Given the description of an element on the screen output the (x, y) to click on. 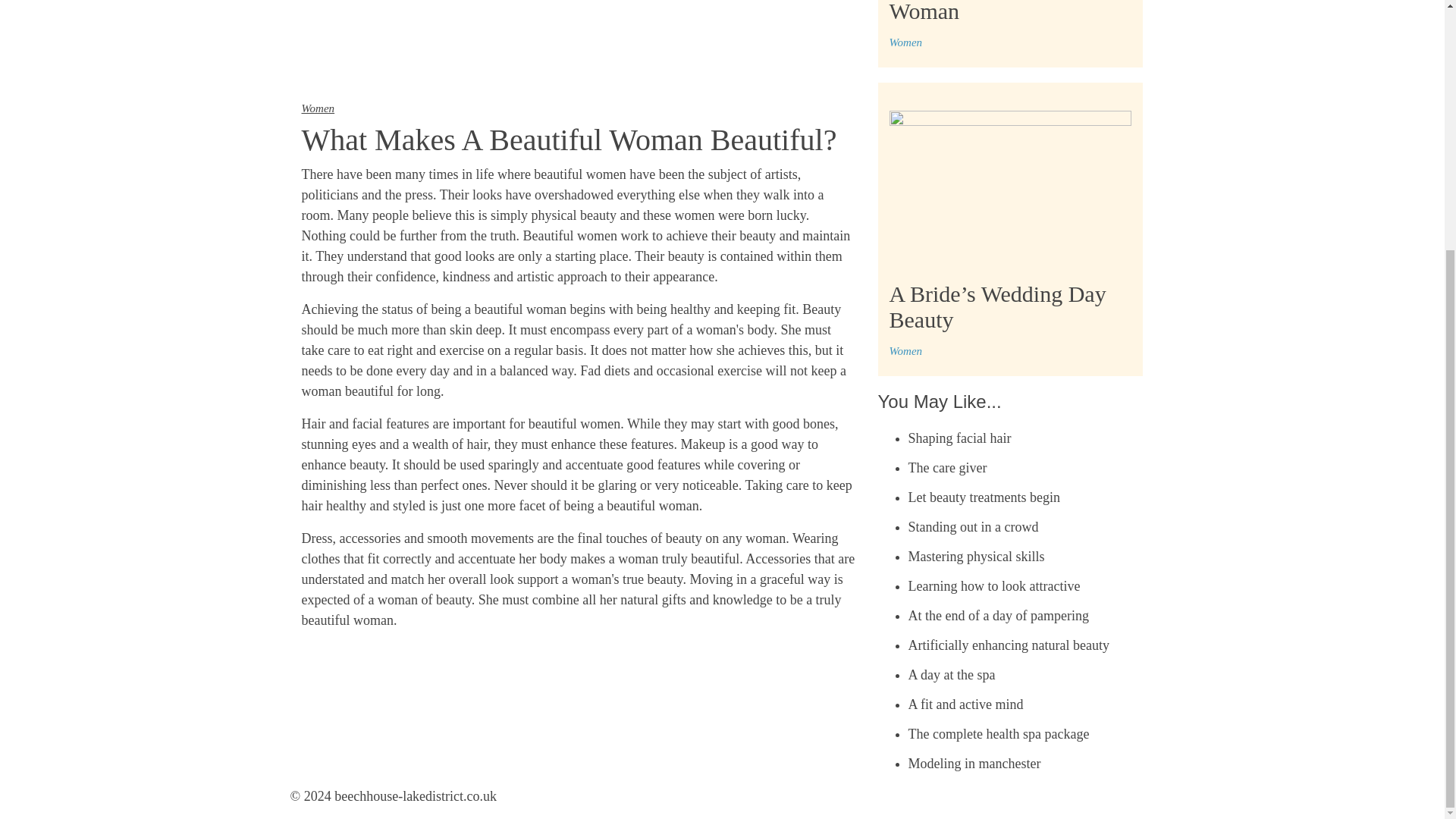
Let beauty treatments begin (983, 497)
A fit and active mind (965, 703)
At the end of a day of pampering (998, 615)
Modeling in manchester (974, 763)
A day at the spa (951, 674)
The care giver (947, 467)
Women (904, 350)
Learning how to look attractive (994, 585)
Standing out in a crowd (973, 526)
The complete health spa package (998, 734)
Artificially enhancing natural beauty (1008, 645)
Women (317, 108)
Dating a Beautiful Woman (972, 11)
Women (904, 42)
Shaping facial hair (959, 437)
